Given the description of an element on the screen output the (x, y) to click on. 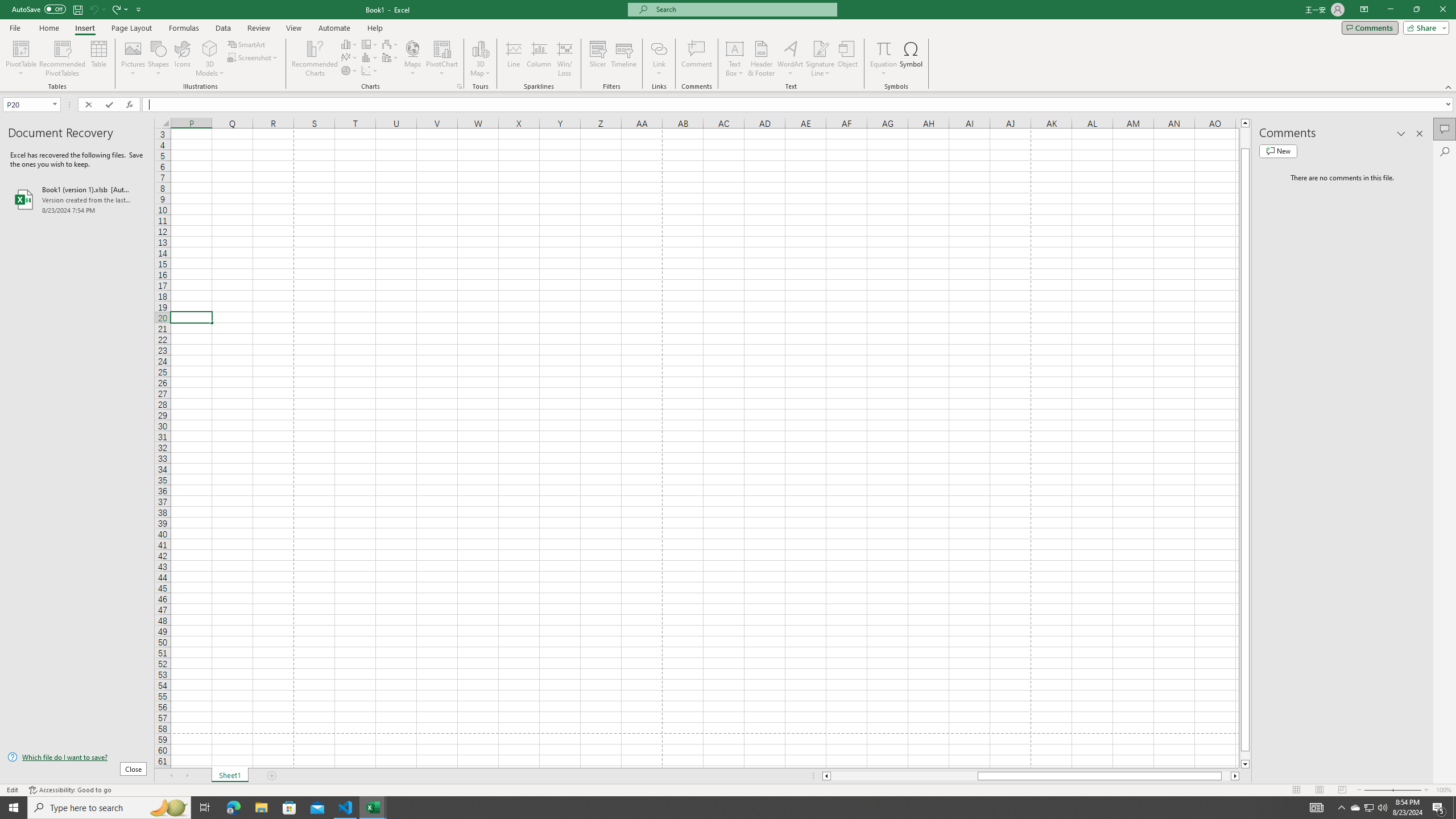
WordArt (790, 58)
Line (513, 58)
Text Box (734, 58)
Insert Statistic Chart (369, 56)
Insert Combo Chart (390, 56)
Insert Pie or Doughnut Chart (349, 69)
